Given the description of an element on the screen output the (x, y) to click on. 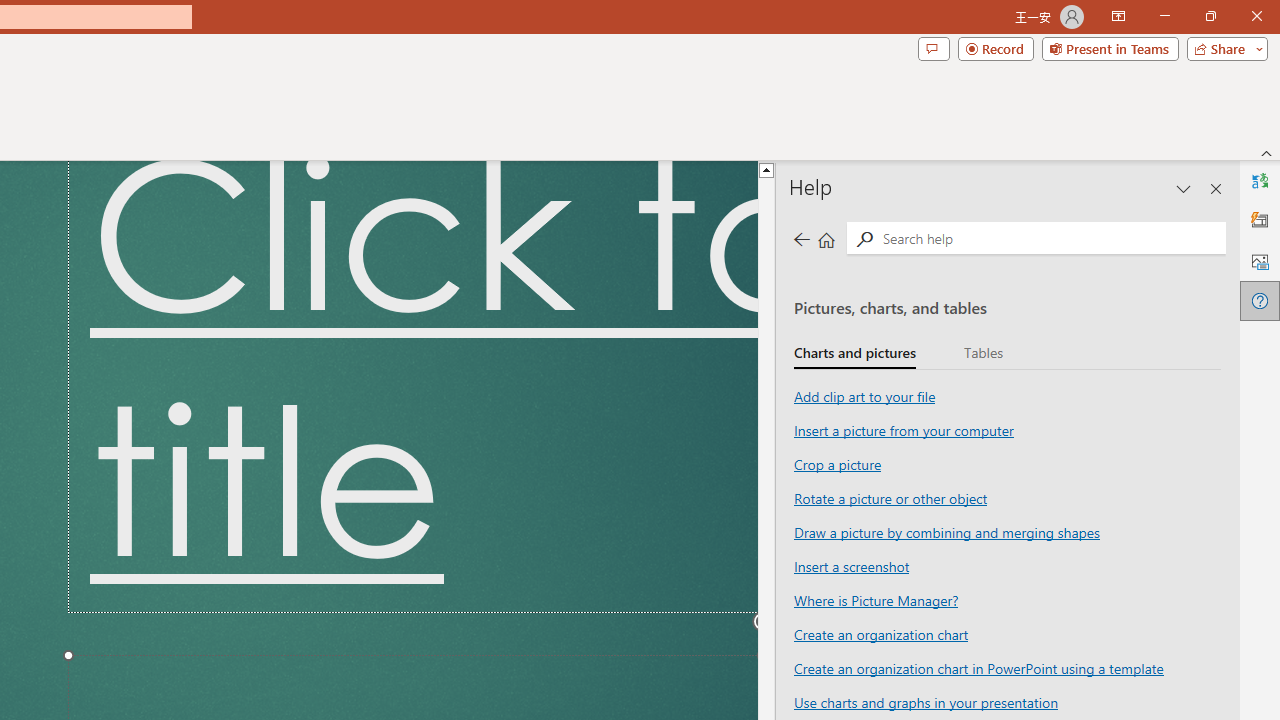
Create an organization chart (880, 633)
